Given the description of an element on the screen output the (x, y) to click on. 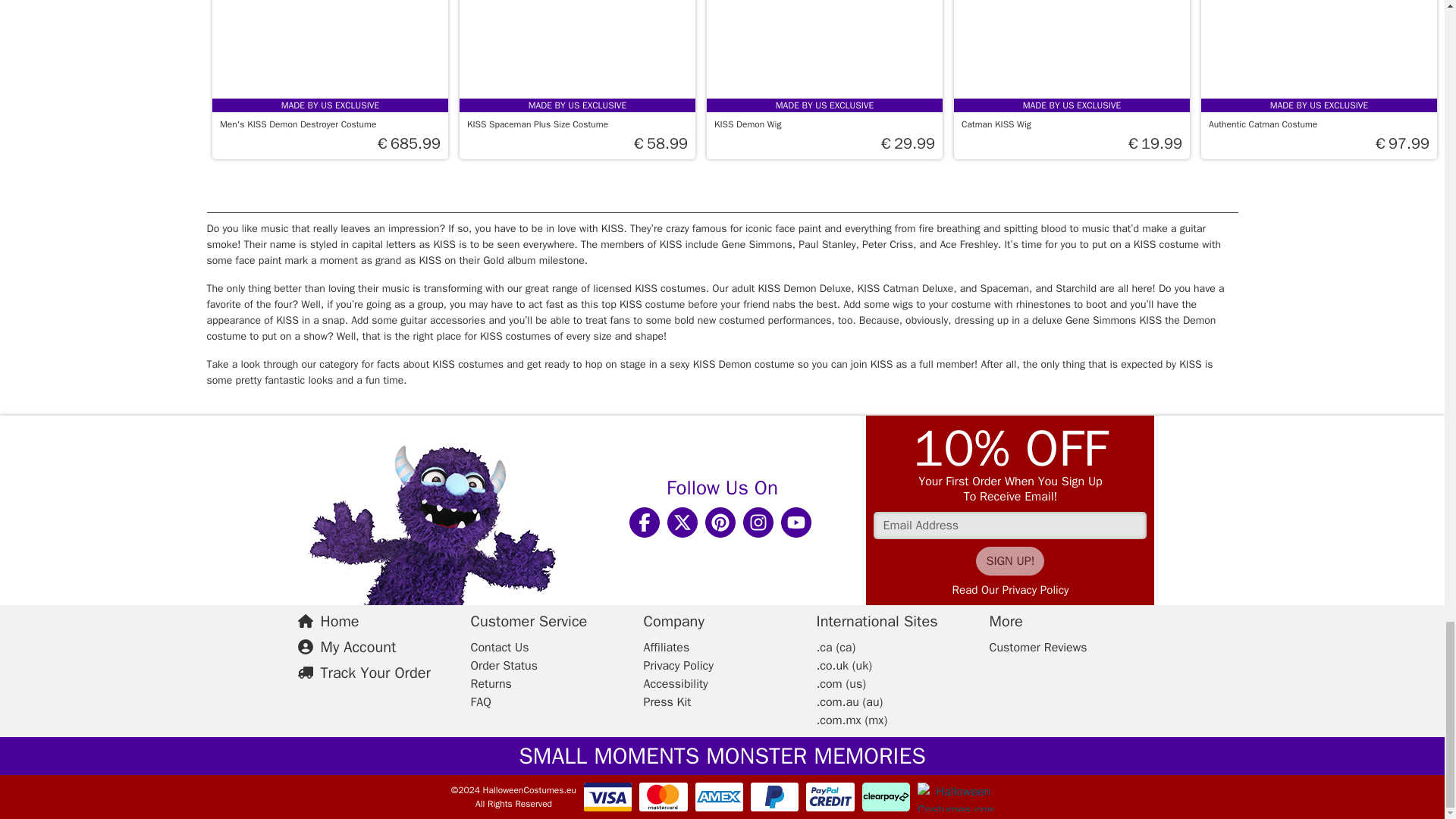
Sign Up! (1009, 561)
